Given the description of an element on the screen output the (x, y) to click on. 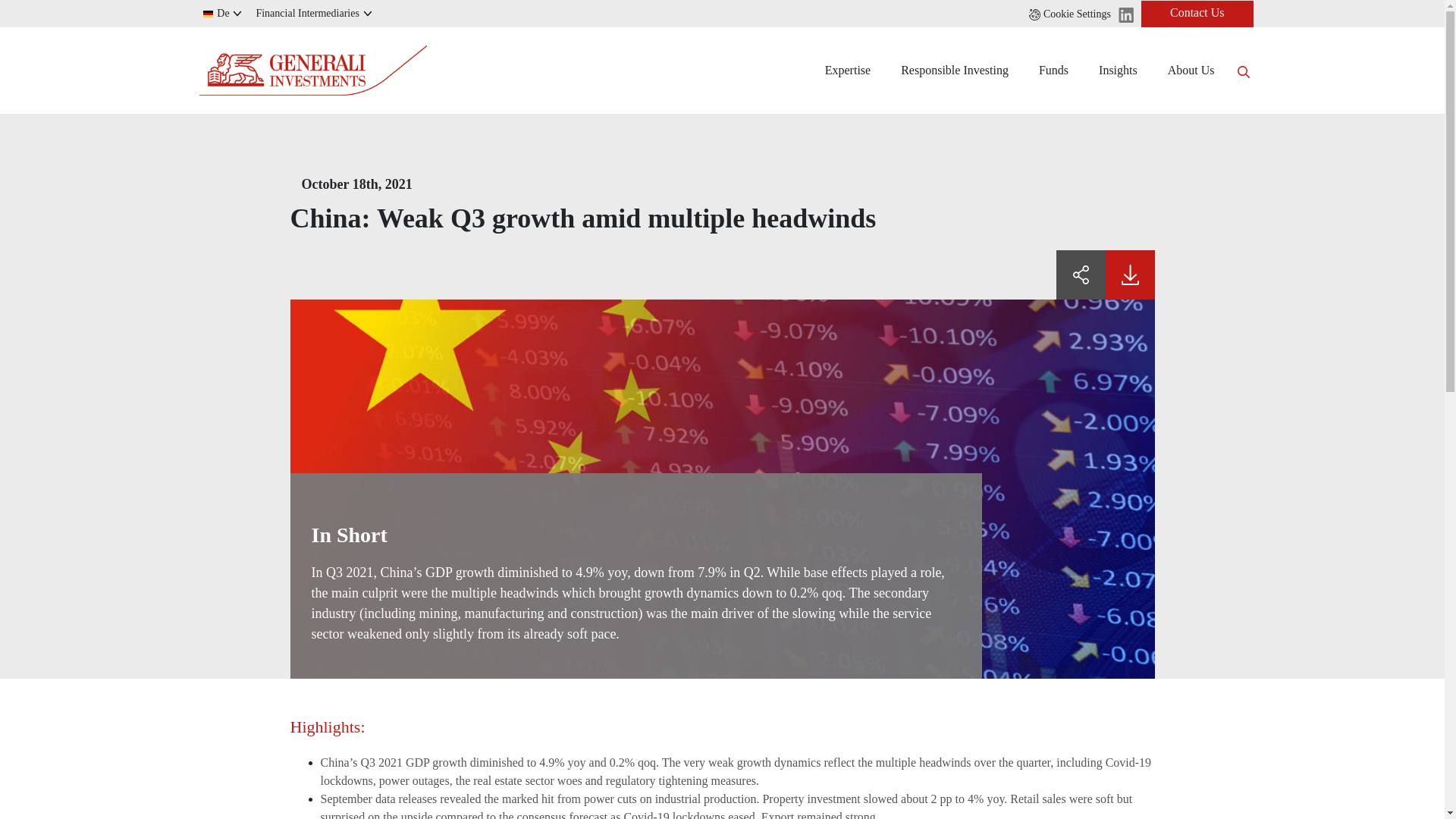
Contact Us (1197, 13)
Responsible Investing (954, 70)
About Us (1191, 70)
